Given the description of an element on the screen output the (x, y) to click on. 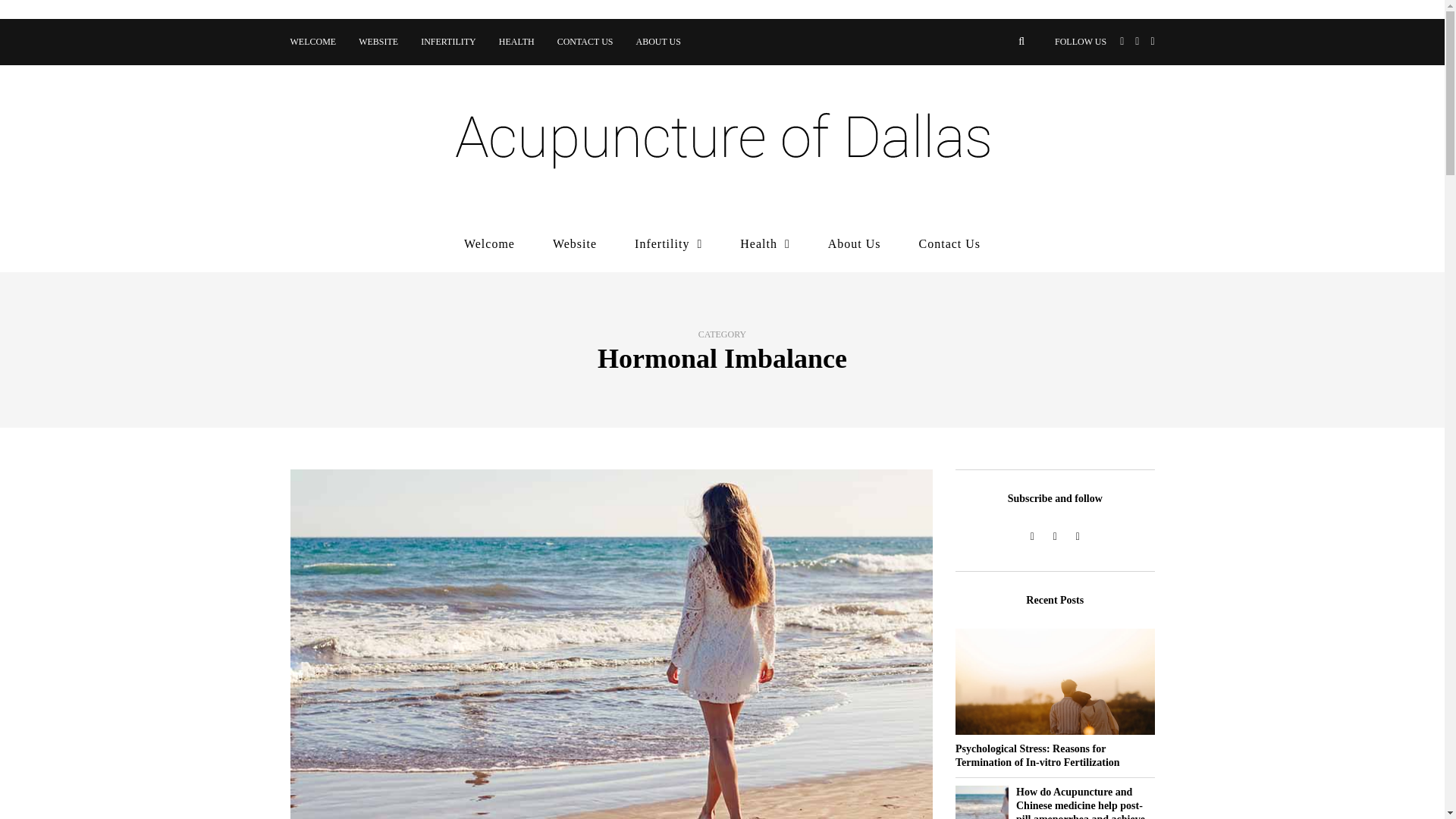
About Us (854, 243)
Health (764, 243)
WELCOME (318, 41)
ABOUT US (657, 41)
CONTACT US (585, 41)
Website (573, 243)
INFERTILITY (448, 41)
WEBSITE (378, 41)
Contact Us (950, 243)
Infertility (668, 243)
Welcome (489, 243)
HEALTH (516, 41)
